Given the description of an element on the screen output the (x, y) to click on. 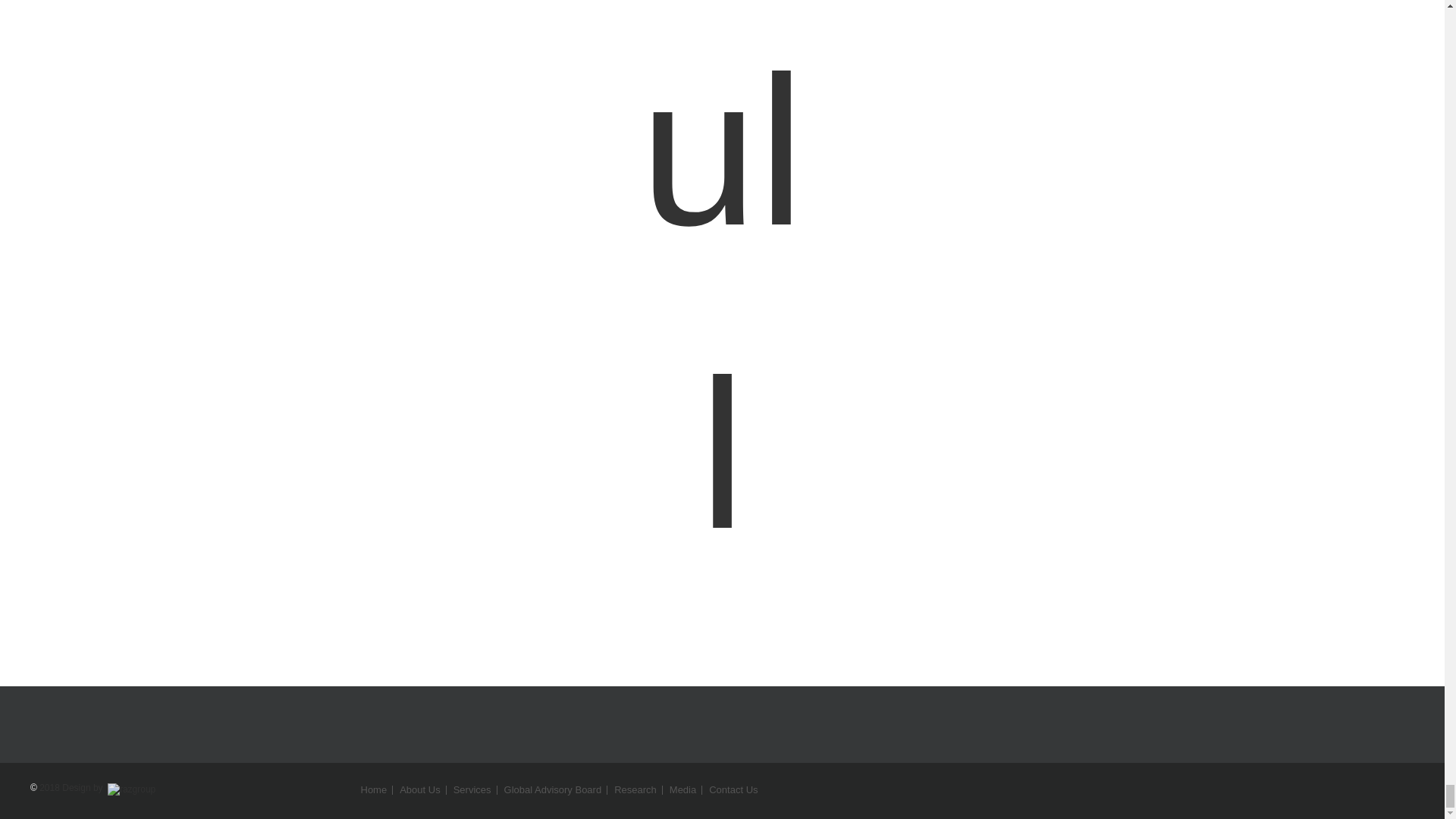
About Us (419, 789)
Home (374, 789)
2018 Design by (97, 787)
